Given the description of an element on the screen output the (x, y) to click on. 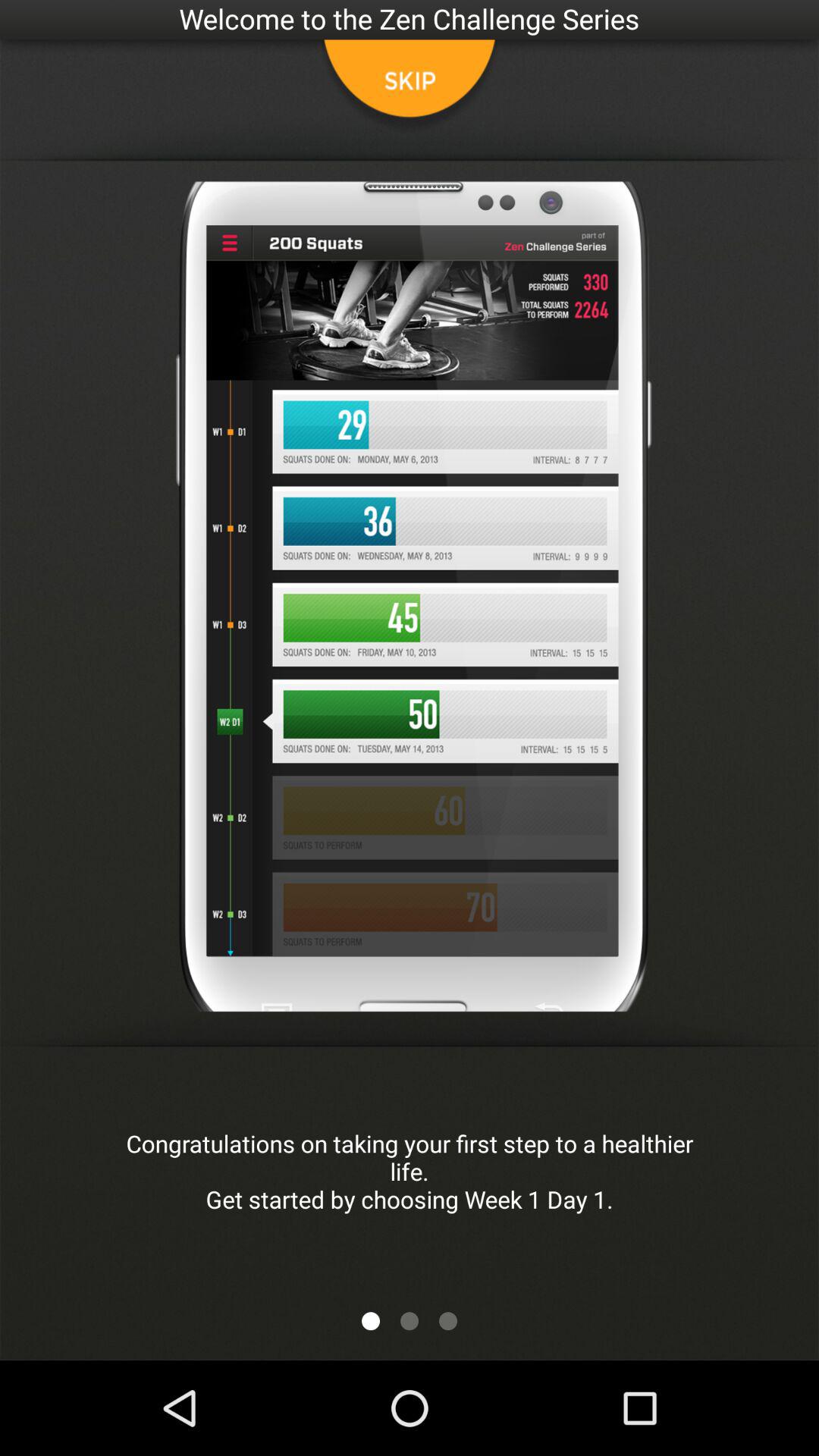
show the first part of the tutorial (370, 1321)
